Given the description of an element on the screen output the (x, y) to click on. 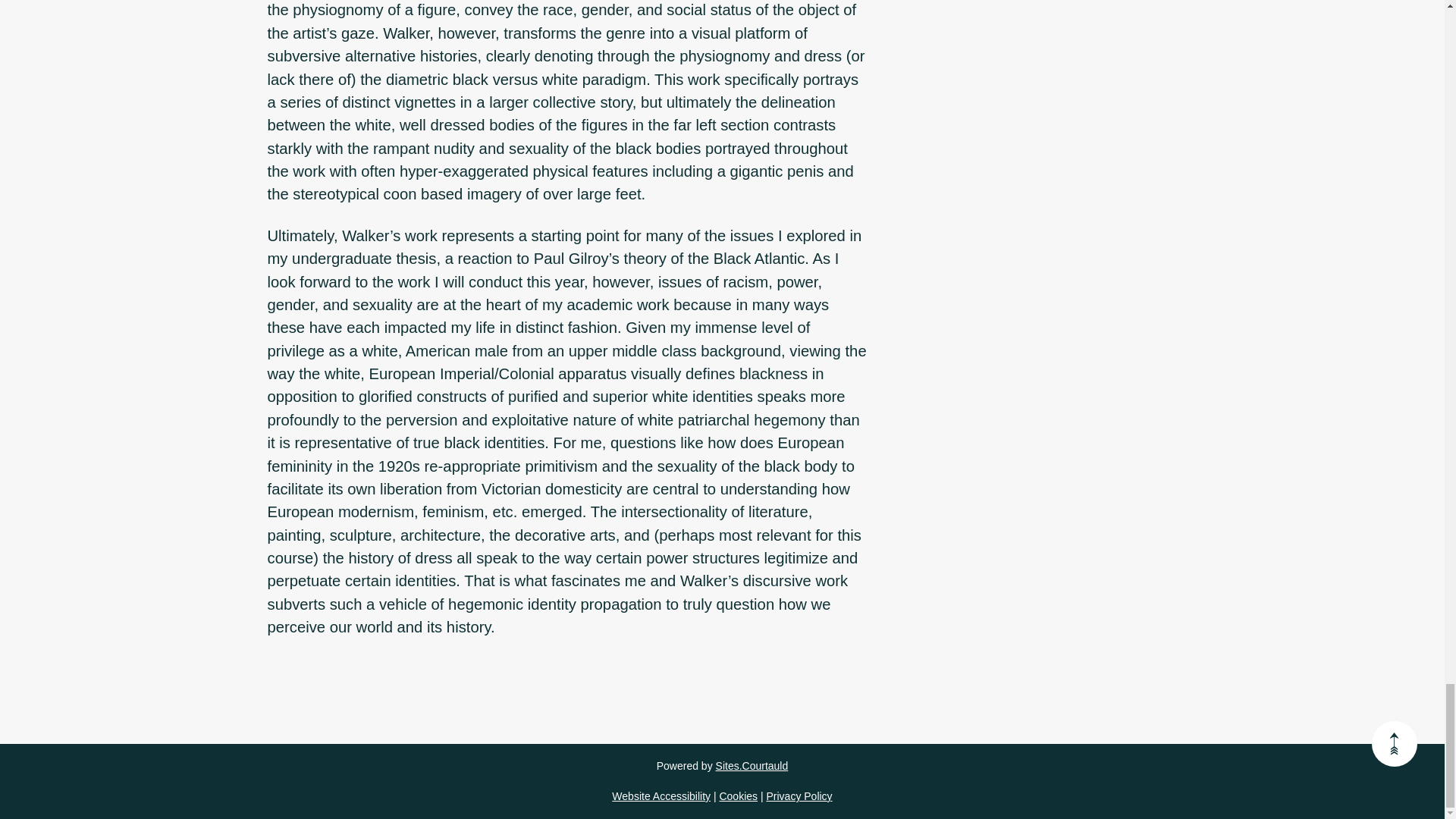
Sites.Courtauld (752, 766)
Cookies (738, 796)
Courtauld Satellite Websites Platform (752, 766)
Privacy Policy (798, 796)
Website Accessibility (660, 796)
